Given the description of an element on the screen output the (x, y) to click on. 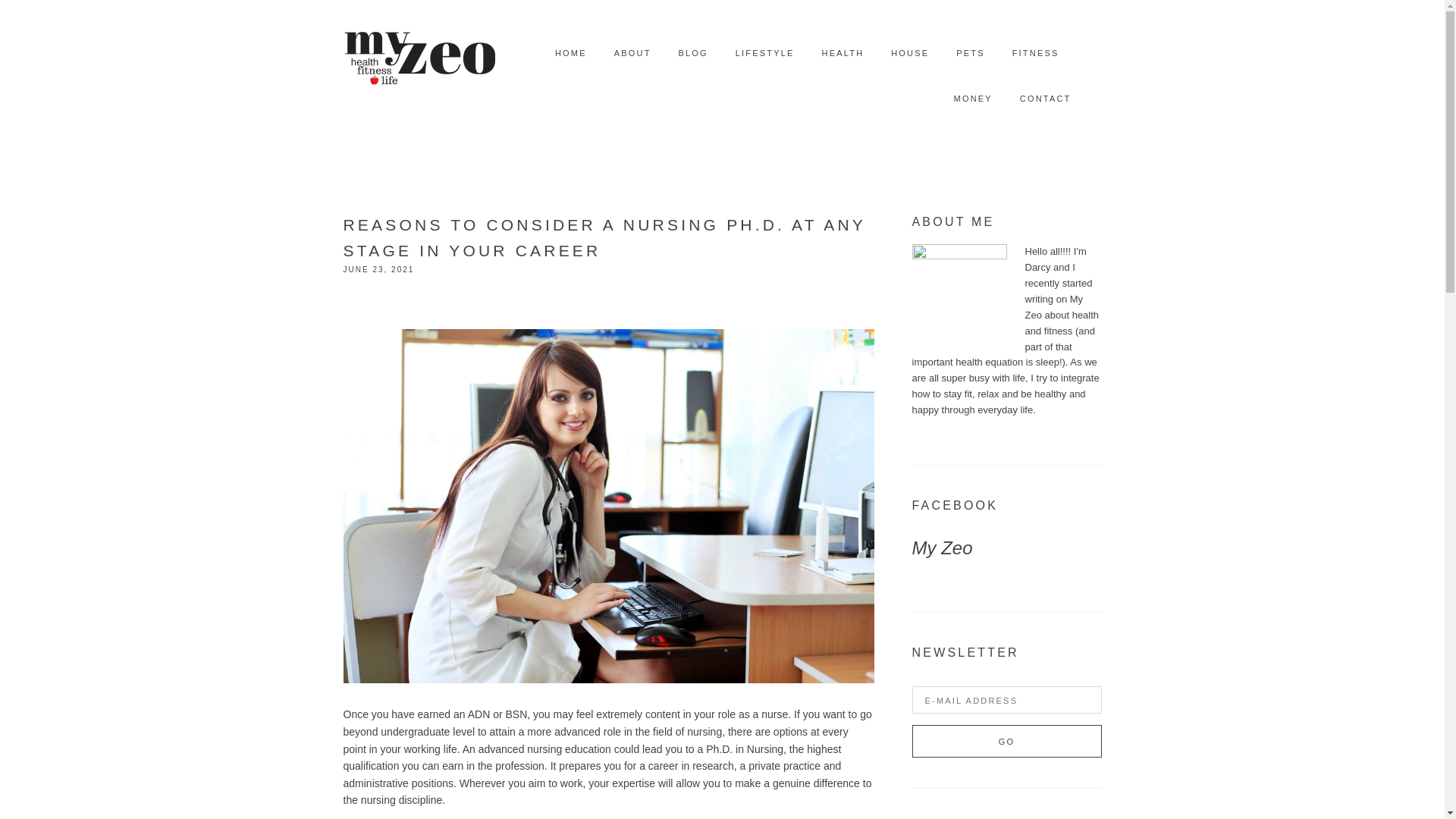
CONTACT (1045, 98)
LIFESTYLE (764, 53)
Go (1005, 740)
FITNESS (1035, 53)
HEALTH (843, 53)
My Zeo (941, 547)
MY ZEO (418, 53)
Go (1005, 740)
